Given the description of an element on the screen output the (x, y) to click on. 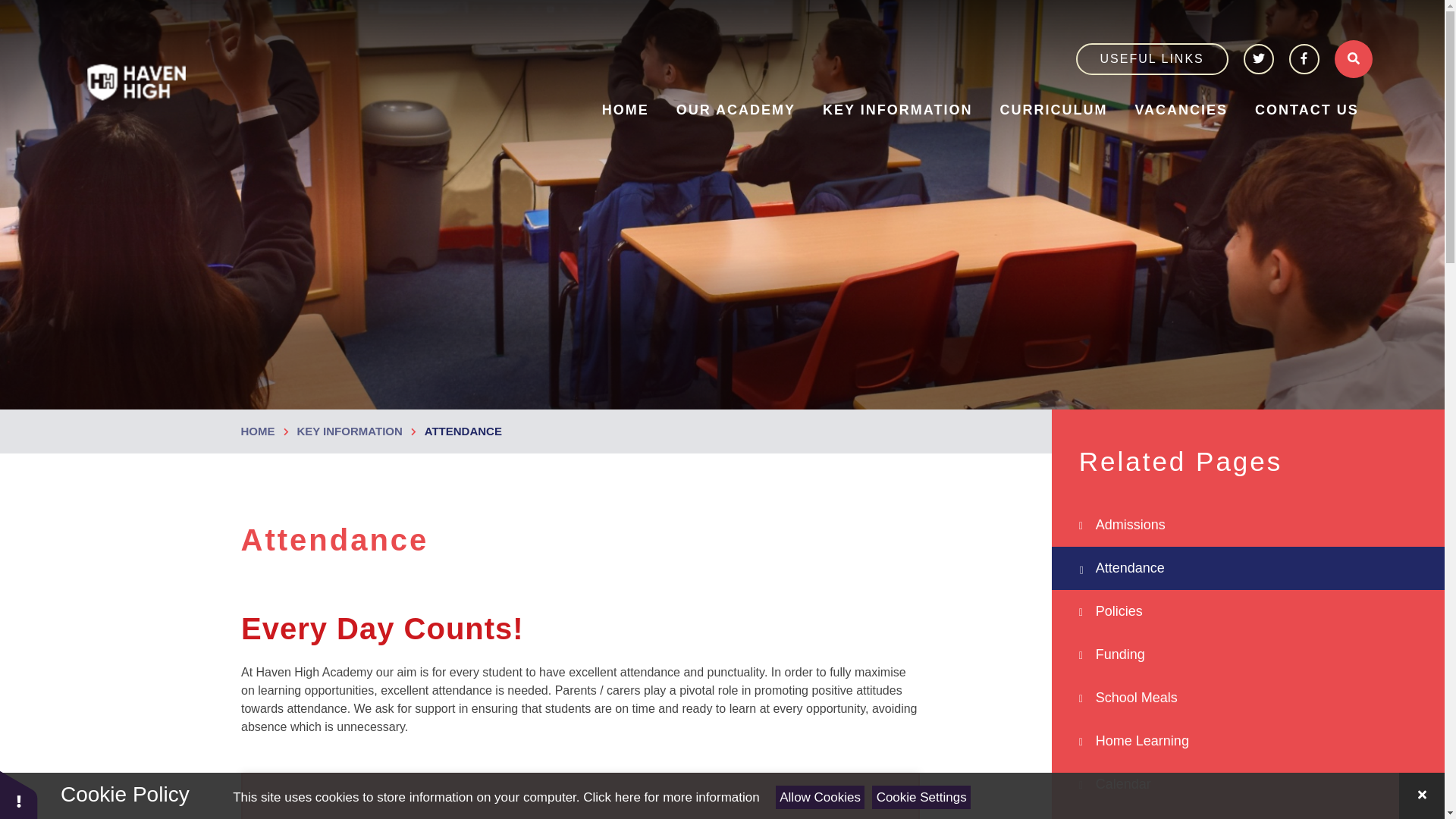
OUR ACADEMY (735, 109)
HOME (625, 109)
KEY INFORMATION (897, 109)
